Given the description of an element on the screen output the (x, y) to click on. 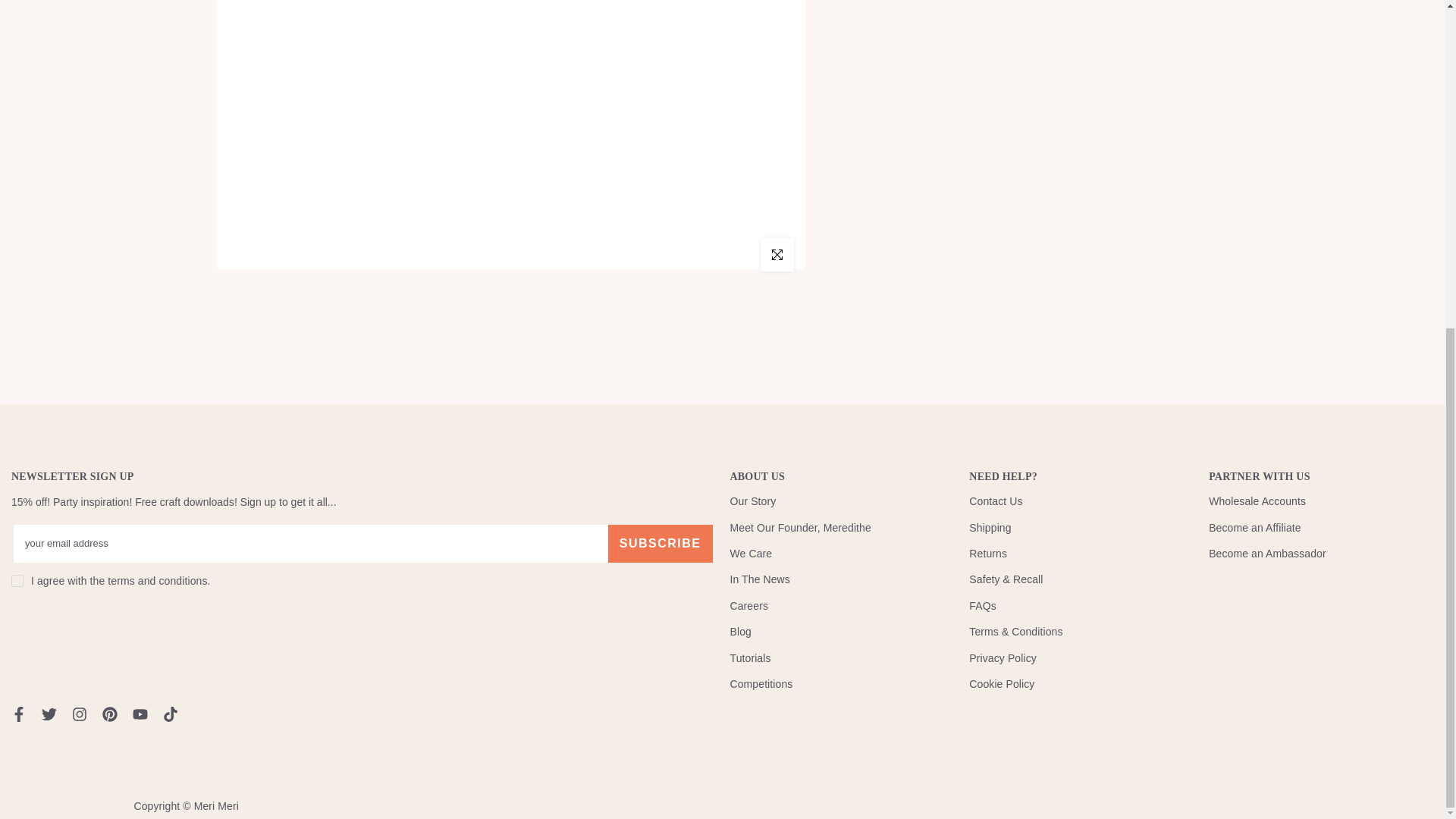
SUBSCRIBE (660, 543)
terms and conditions (156, 580)
